Given the description of an element on the screen output the (x, y) to click on. 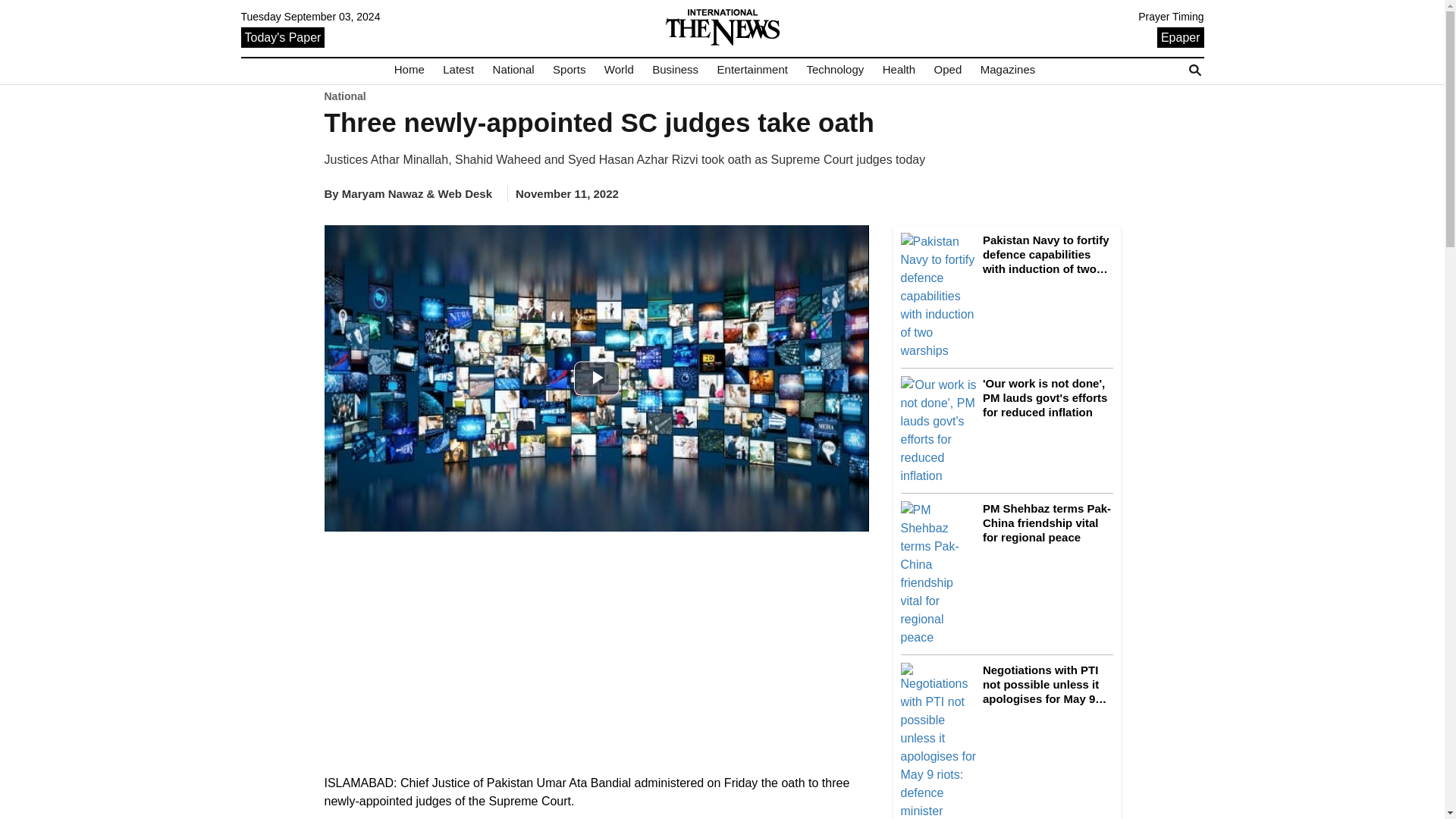
Business (675, 69)
Epaper (1180, 37)
Home (409, 69)
World (619, 69)
National (512, 69)
Entertainment (752, 69)
Latest (458, 69)
Sports (568, 69)
Prayer Timing (1171, 16)
Today's Paper (282, 37)
